Given the description of an element on the screen output the (x, y) to click on. 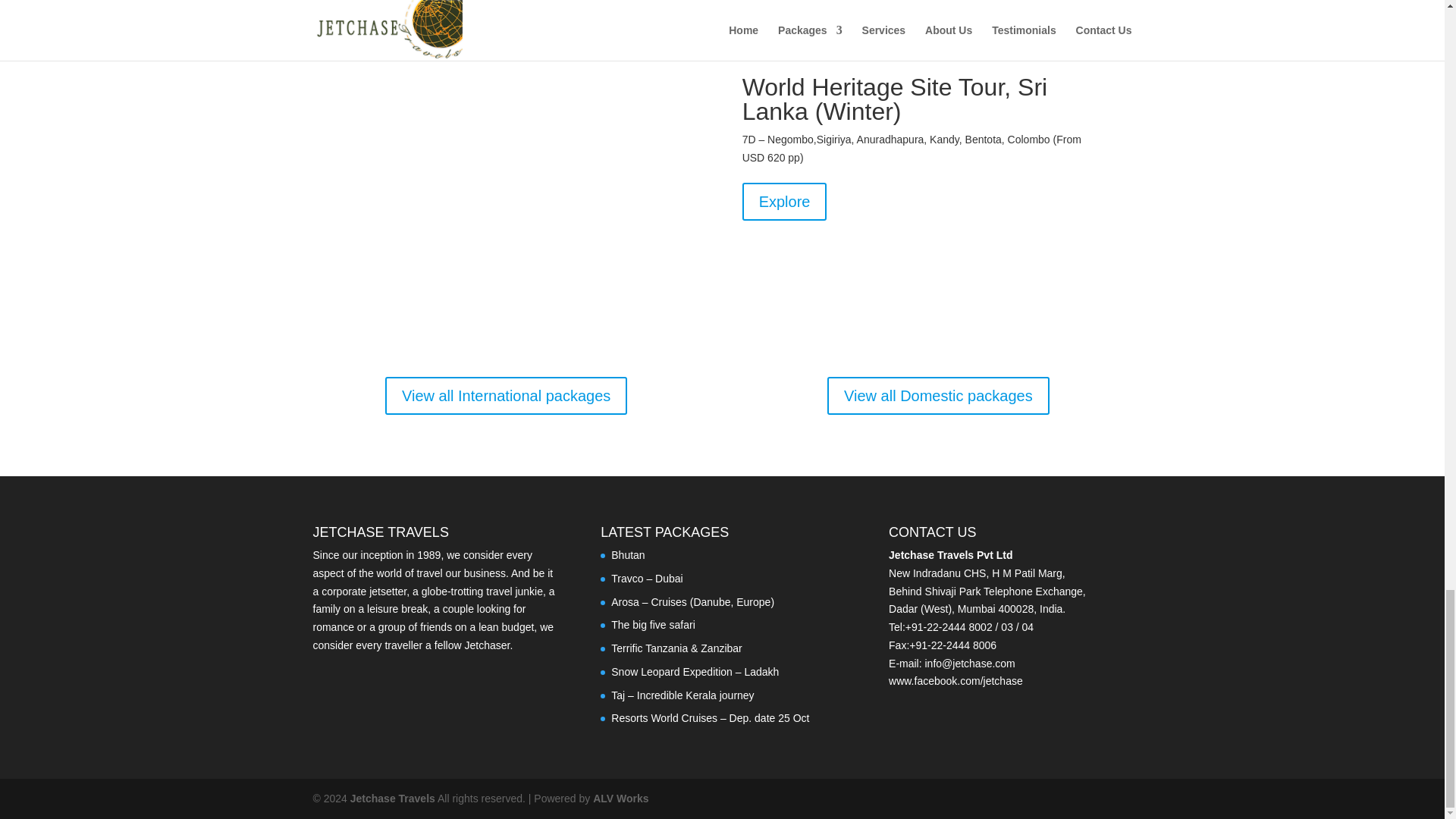
ALV Works (619, 798)
Jetchase Travels (392, 798)
The big five safari (653, 624)
Jetchase Travels (392, 798)
View all International packages (506, 395)
Bhutan (628, 554)
Explore (784, 201)
View all Domestic packages (938, 395)
